Given the description of an element on the screen output the (x, y) to click on. 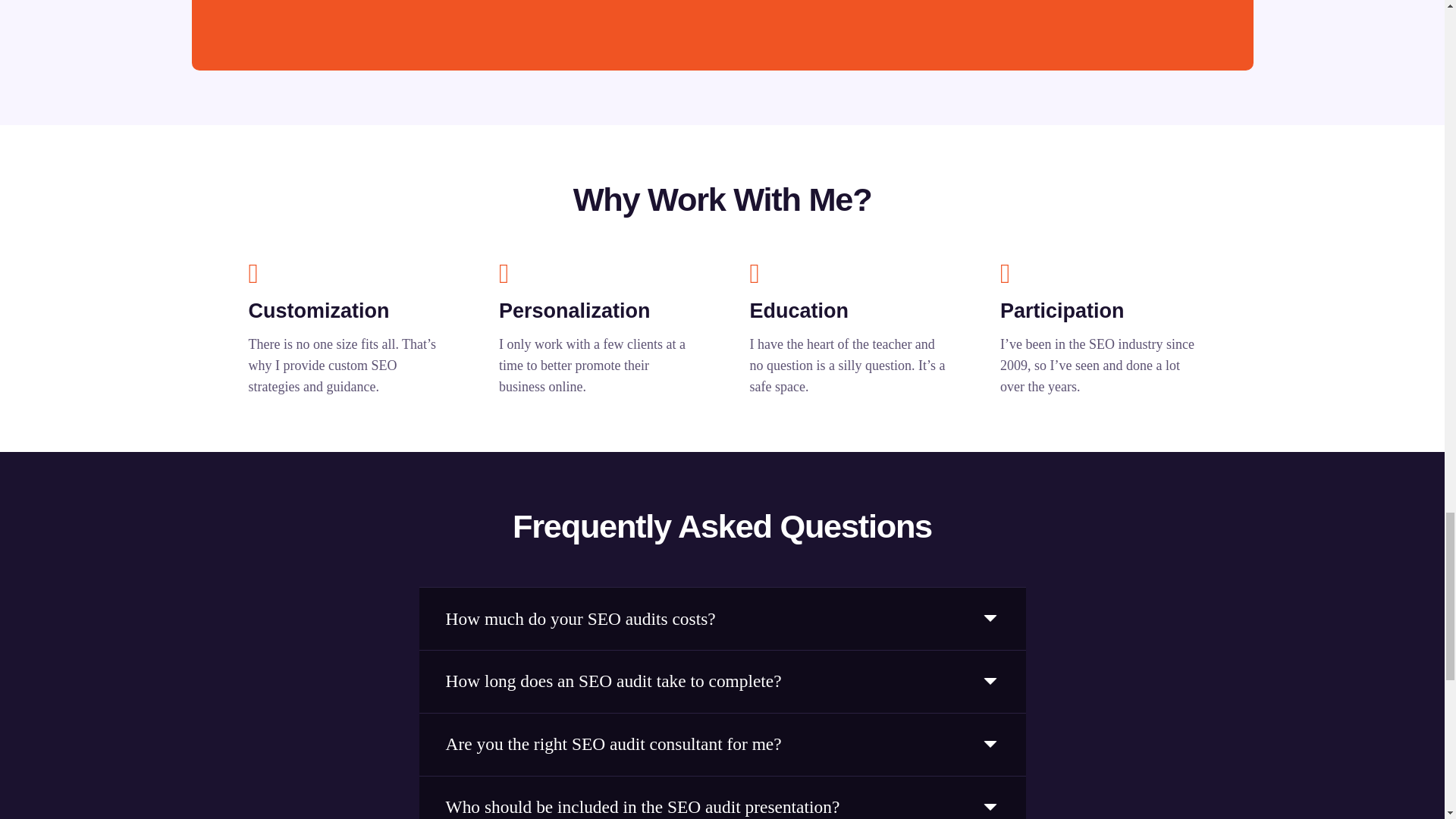
How much do your SEO audits costs? (722, 619)
How long does an SEO audit take to complete? (722, 681)
Are you the right SEO audit consultant for me? (722, 744)
Who should be included in the SEO audit presentation? (722, 797)
